Given the description of an element on the screen output the (x, y) to click on. 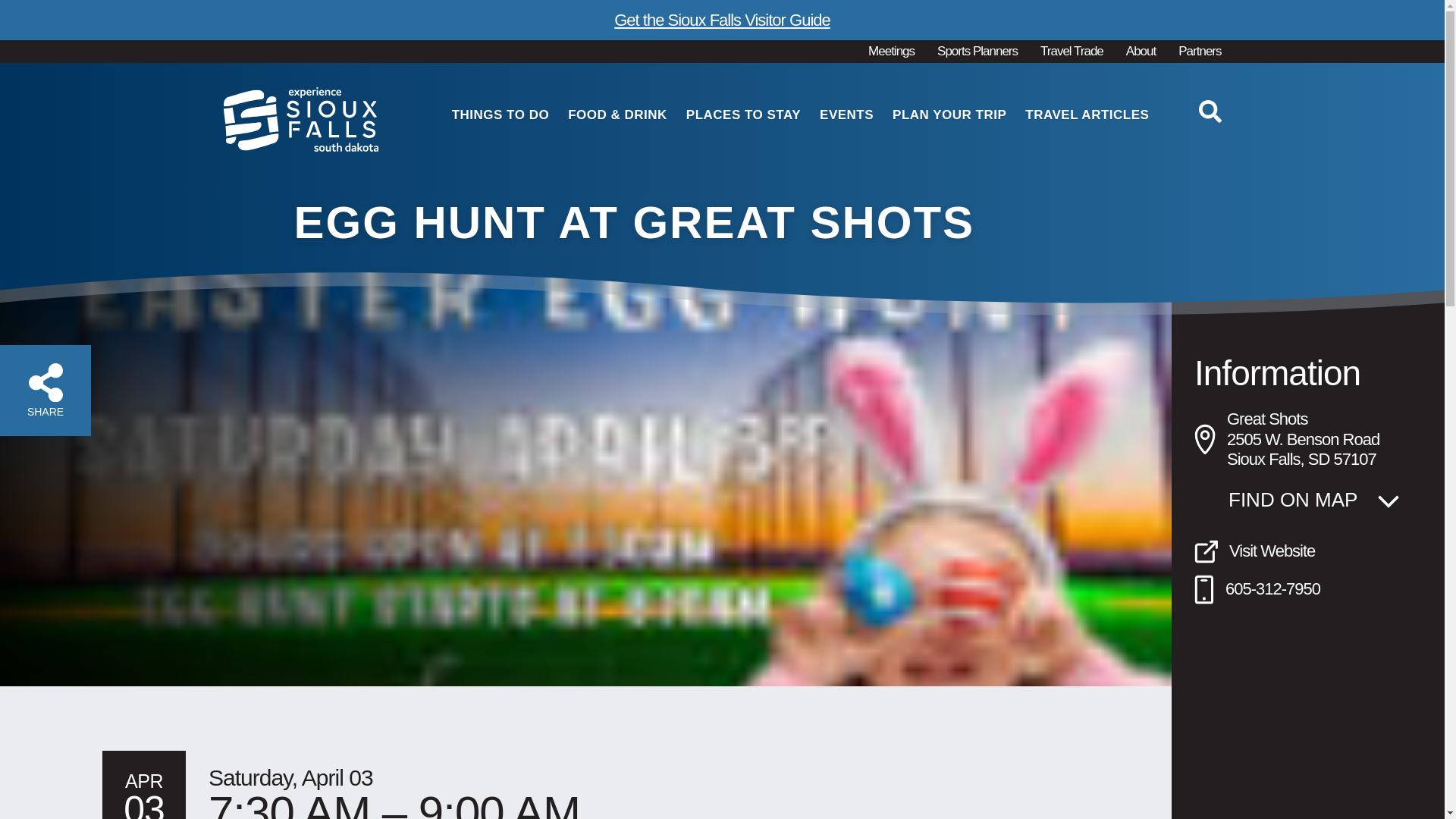
TRAVEL ARTICLES (1080, 114)
PLACES TO STAY (737, 114)
Get the Sioux Falls Visitor Guide (721, 19)
PLAN YOUR TRIP (943, 114)
THINGS TO DO (494, 114)
EVENTS (840, 114)
